Given the description of an element on the screen output the (x, y) to click on. 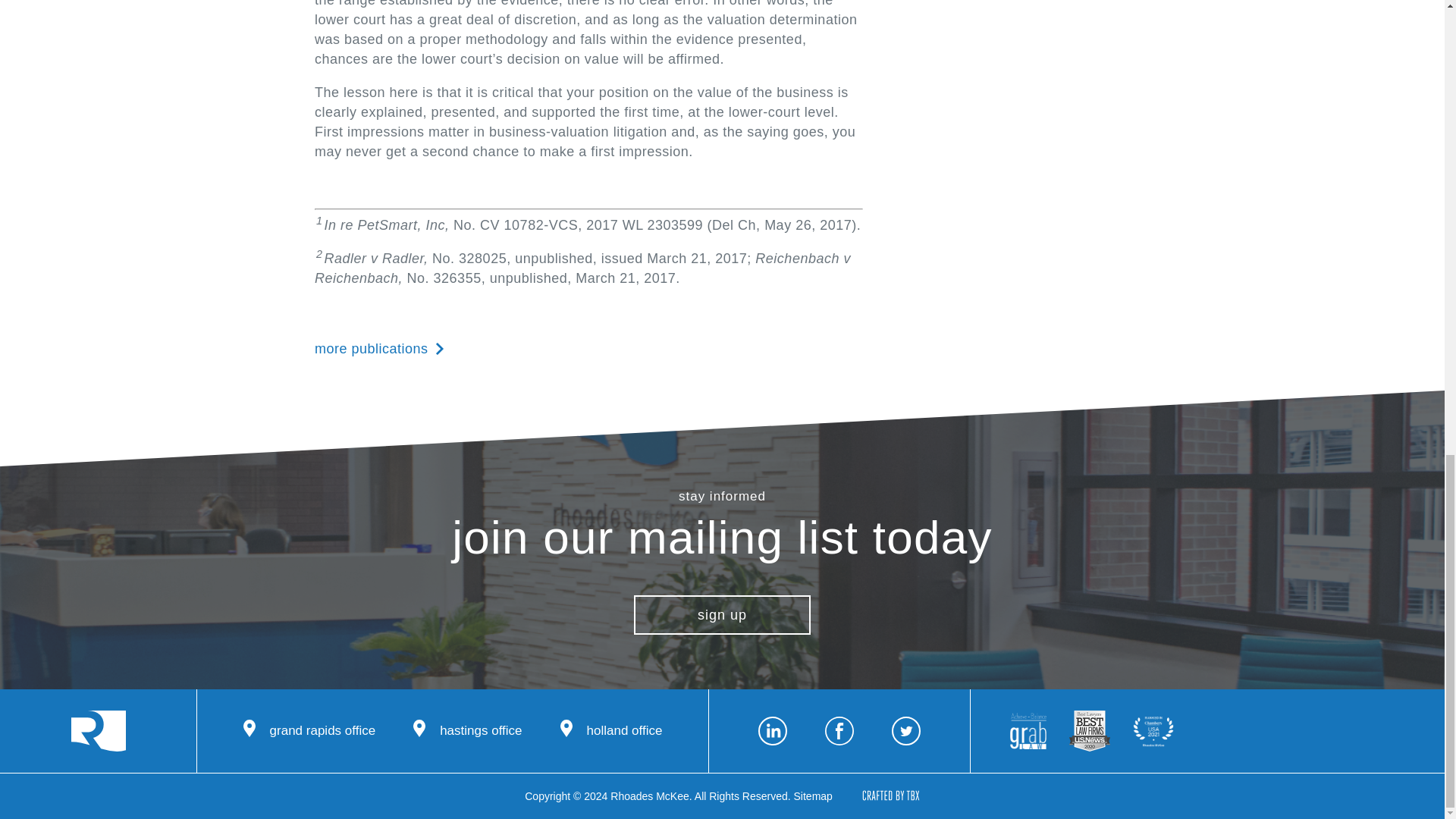
View the Grand Rapids Rhoades McKee office on Google Maps (309, 731)
grab LAW award (1028, 730)
sign up (721, 614)
more publications (379, 348)
Rhoades McKee (98, 730)
View the Hastings Rhoades McKee office on Google Map (467, 731)
Twitter (905, 730)
Sitemap (812, 796)
View the Holland Rhoades McKee office on Google Map (611, 731)
hastings office (467, 731)
Facebook (839, 730)
holland office (611, 731)
Go Home (98, 730)
LinkedIn (772, 730)
grand rapids office (309, 731)
